Given the description of an element on the screen output the (x, y) to click on. 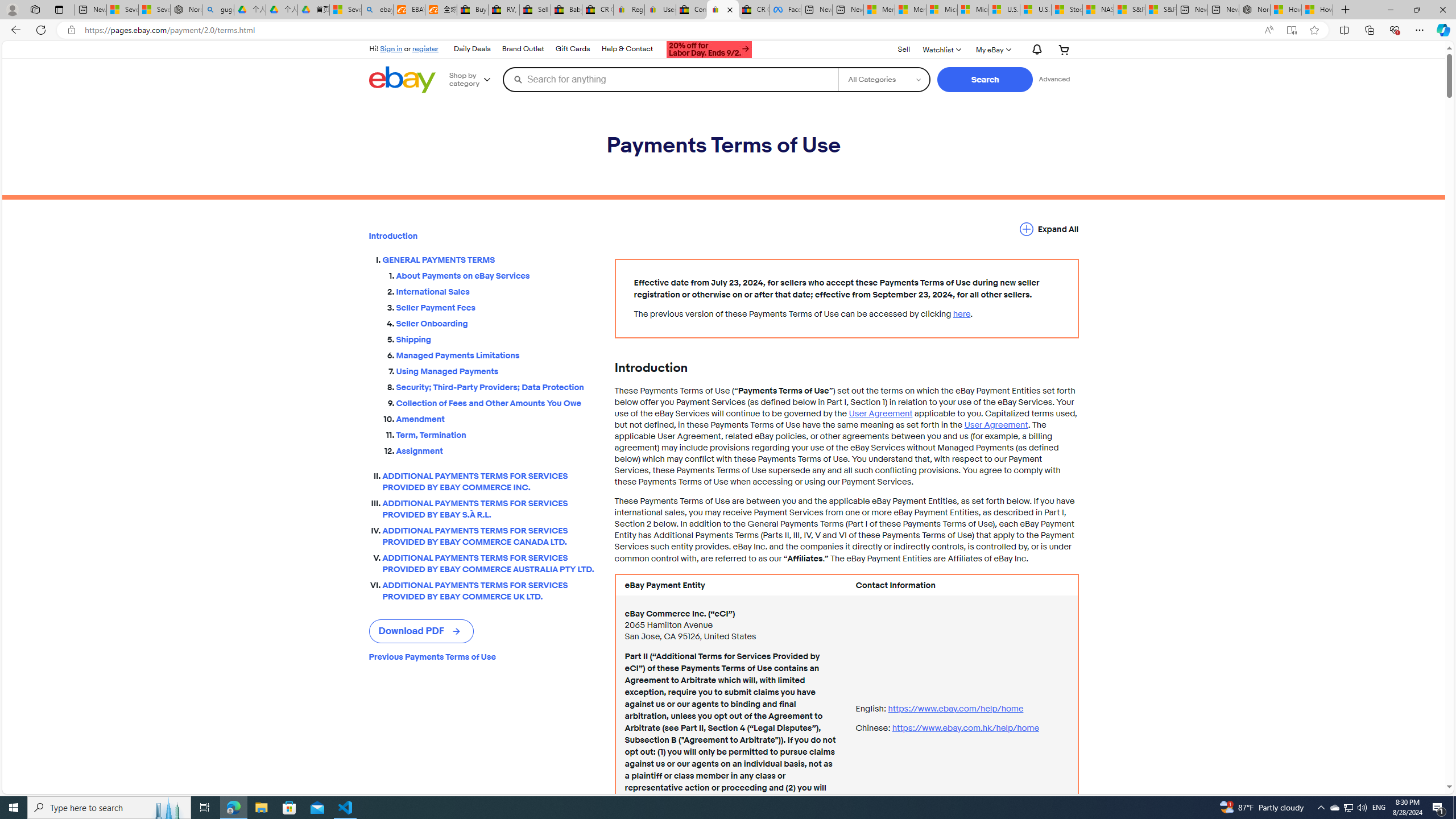
Shop by category (473, 79)
Seller Payment Fees (496, 305)
